Given the description of an element on the screen output the (x, y) to click on. 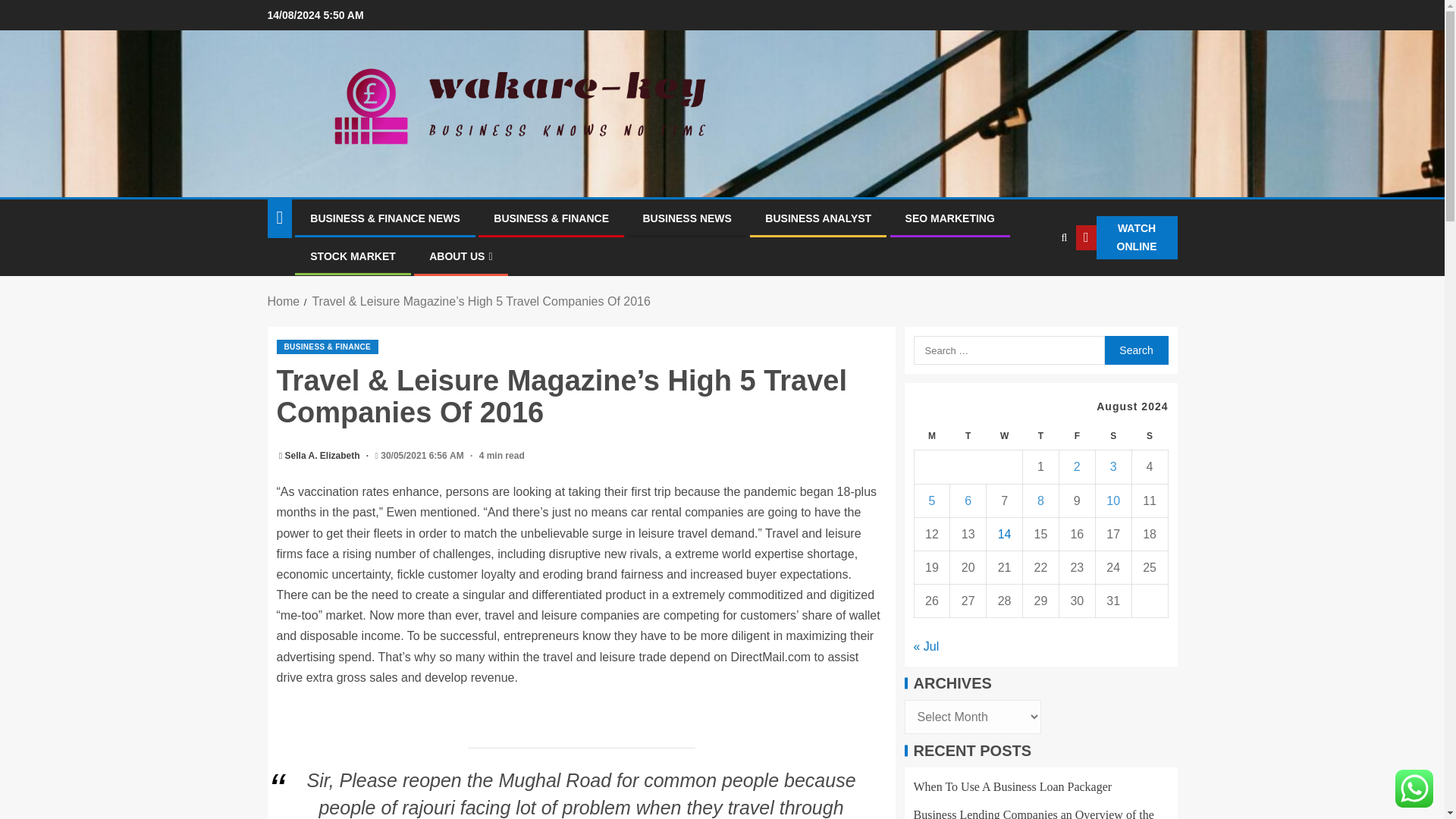
Sunday (1149, 436)
Sella A. Elizabeth (323, 455)
SEO MARKETING (949, 218)
Wednesday (1005, 436)
Tuesday (968, 436)
BUSINESS NEWS (686, 218)
BUSINESS ANALYST (817, 218)
Monday (932, 436)
Home (282, 300)
Search (1135, 349)
